Given the description of an element on the screen output the (x, y) to click on. 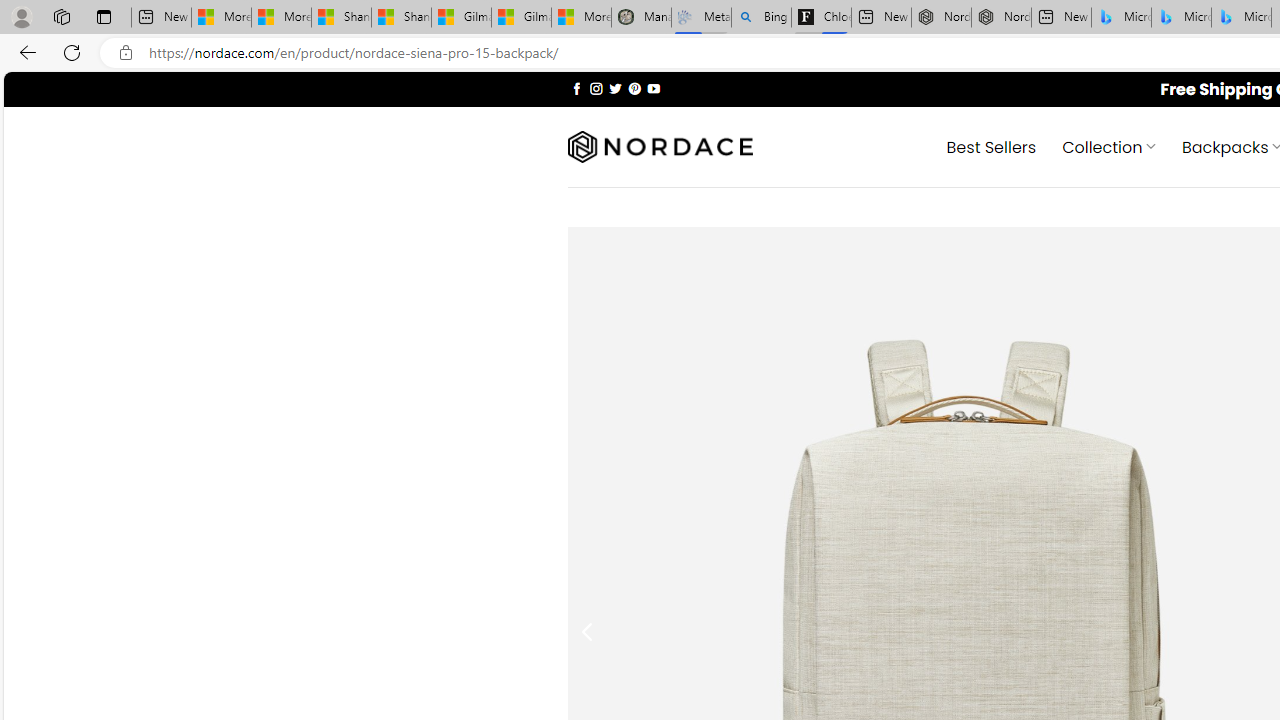
Chloe Sorvino (821, 17)
Manatee Mortality Statistics | FWC (640, 17)
Follow on Instagram (596, 88)
Nordace - #1 Japanese Best-Seller - Siena Smart Backpack (1000, 17)
Follow on Facebook (576, 88)
Shanghai, China weather forecast | Microsoft Weather (401, 17)
Microsoft Bing Travel - Shangri-La Hotel Bangkok (1241, 17)
 Best Sellers (990, 146)
Bing Real Estate - Home sales and rental listings (761, 17)
